Given the description of an element on the screen output the (x, y) to click on. 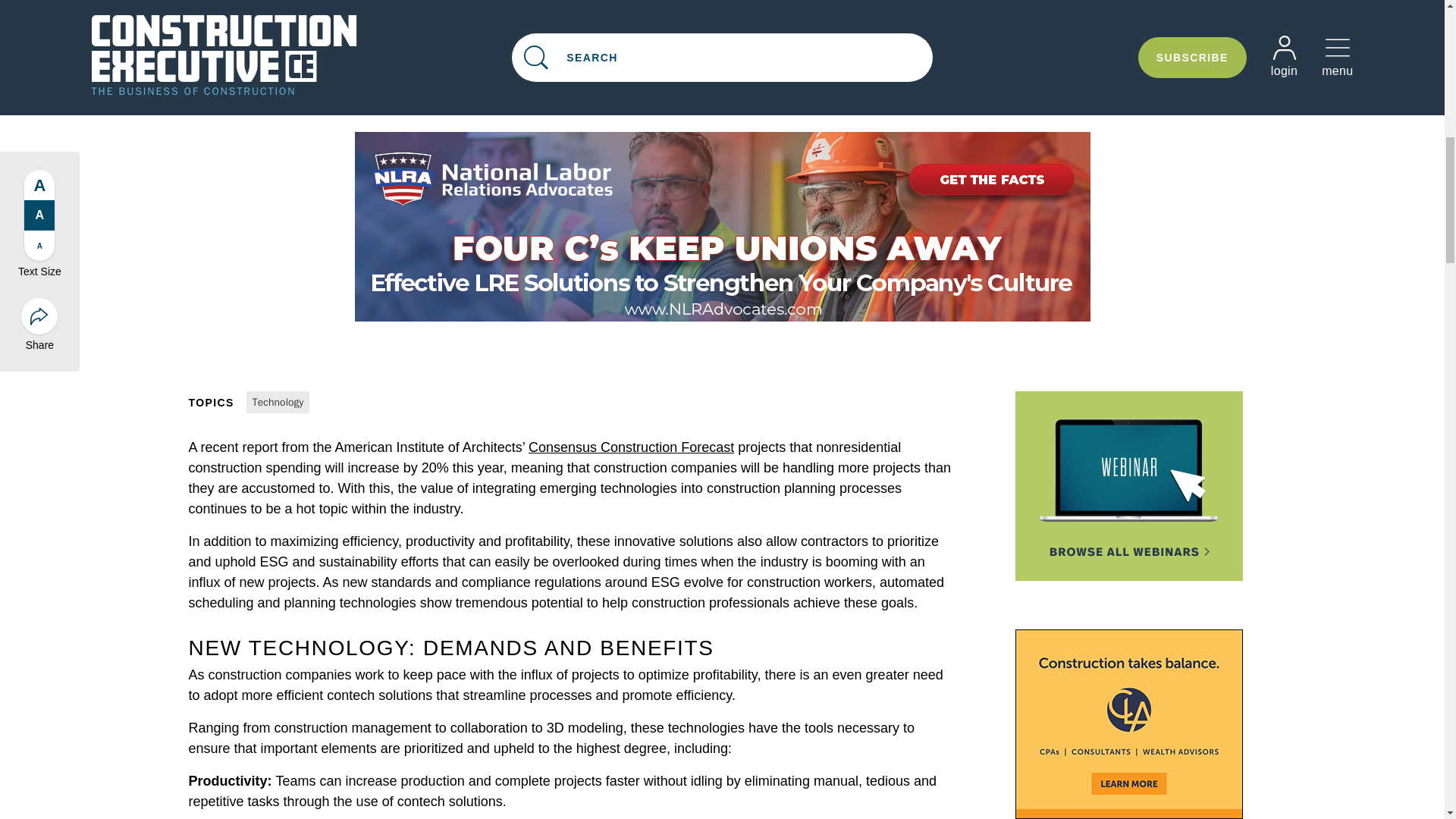
A (39, 241)
A (39, 210)
Consensus Construction Forecast (630, 447)
A (39, 180)
